Given the description of an element on the screen output the (x, y) to click on. 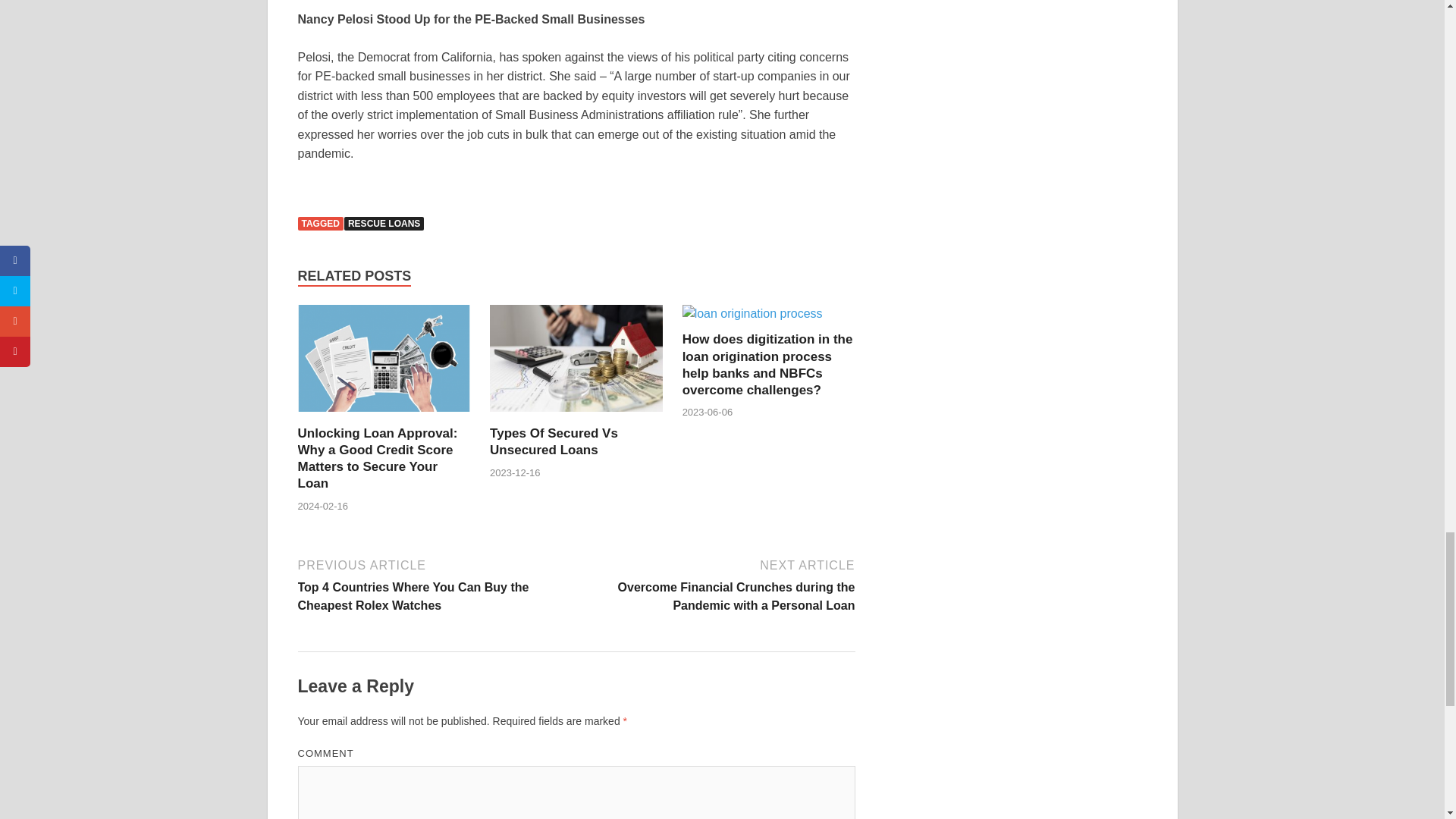
Types Of Secured Vs Unsecured Loans (575, 415)
Types Of Secured Vs Unsecured Loans (553, 441)
Types Of Secured Vs Unsecured Loans (553, 441)
RESCUE LOANS (383, 223)
